Given the description of an element on the screen output the (x, y) to click on. 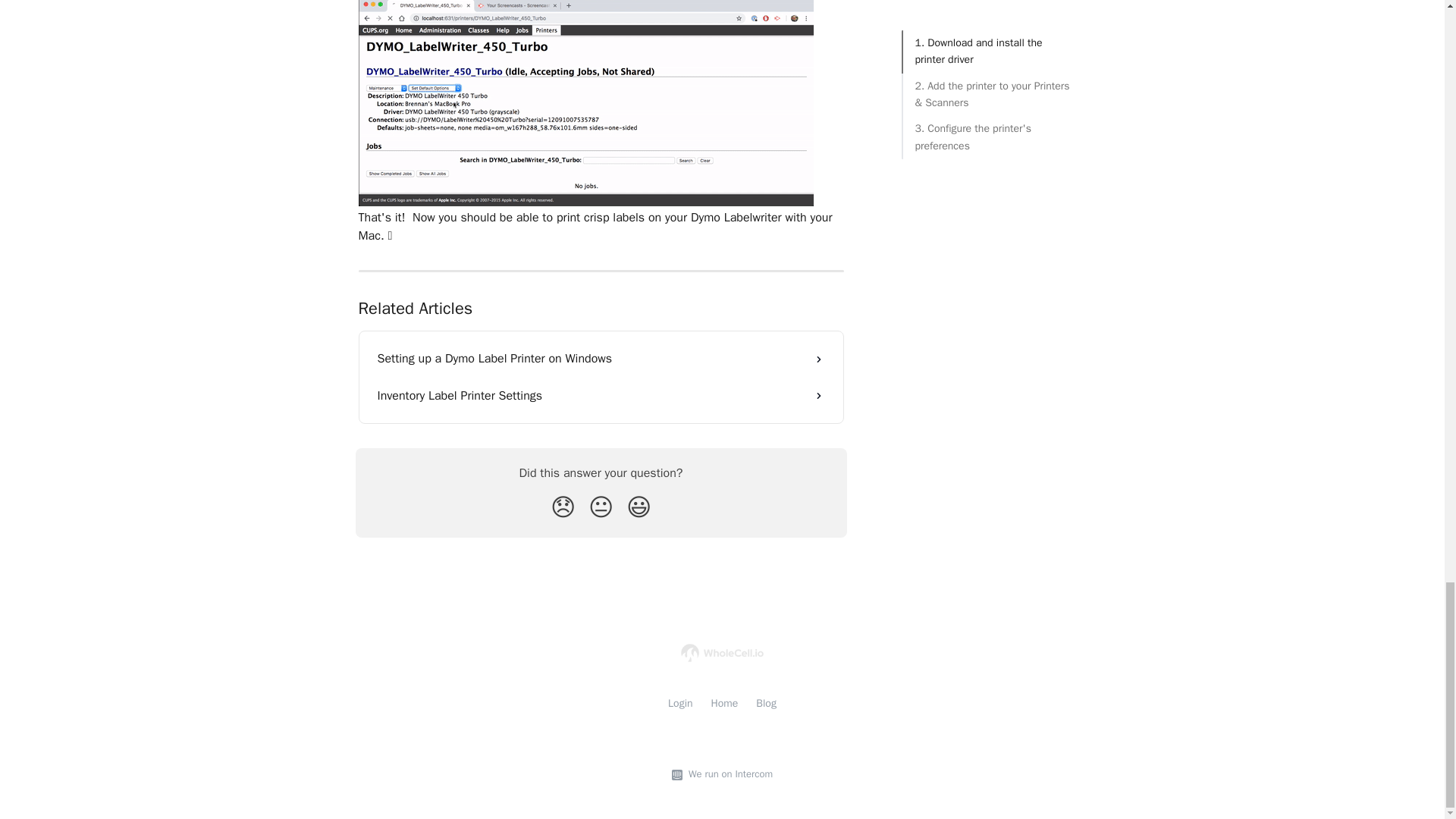
Neutral (600, 507)
Login (680, 703)
Disappointed (562, 507)
Blog (765, 703)
Inventory Label Printer Settings (601, 395)
We run on Intercom (727, 774)
Smiley (638, 507)
Setting up a Dymo Label Printer on Windows (601, 358)
Home (724, 703)
